Given the description of an element on the screen output the (x, y) to click on. 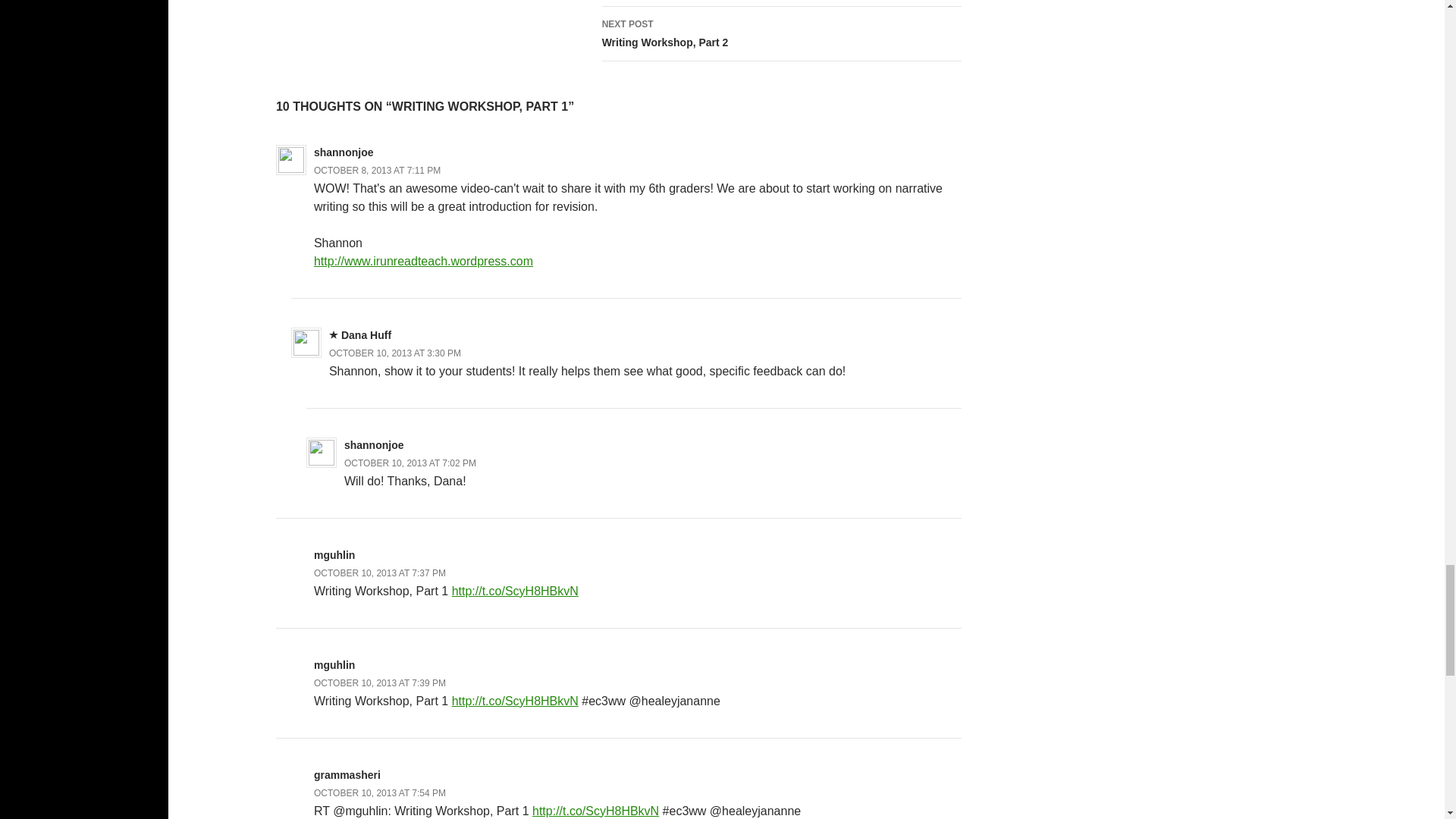
shannonjoe (344, 152)
Dana Huff (365, 335)
OCTOBER 8, 2013 AT 7:11 PM (377, 170)
OCTOBER 10, 2013 AT 3:30 PM (781, 3)
